Given the description of an element on the screen output the (x, y) to click on. 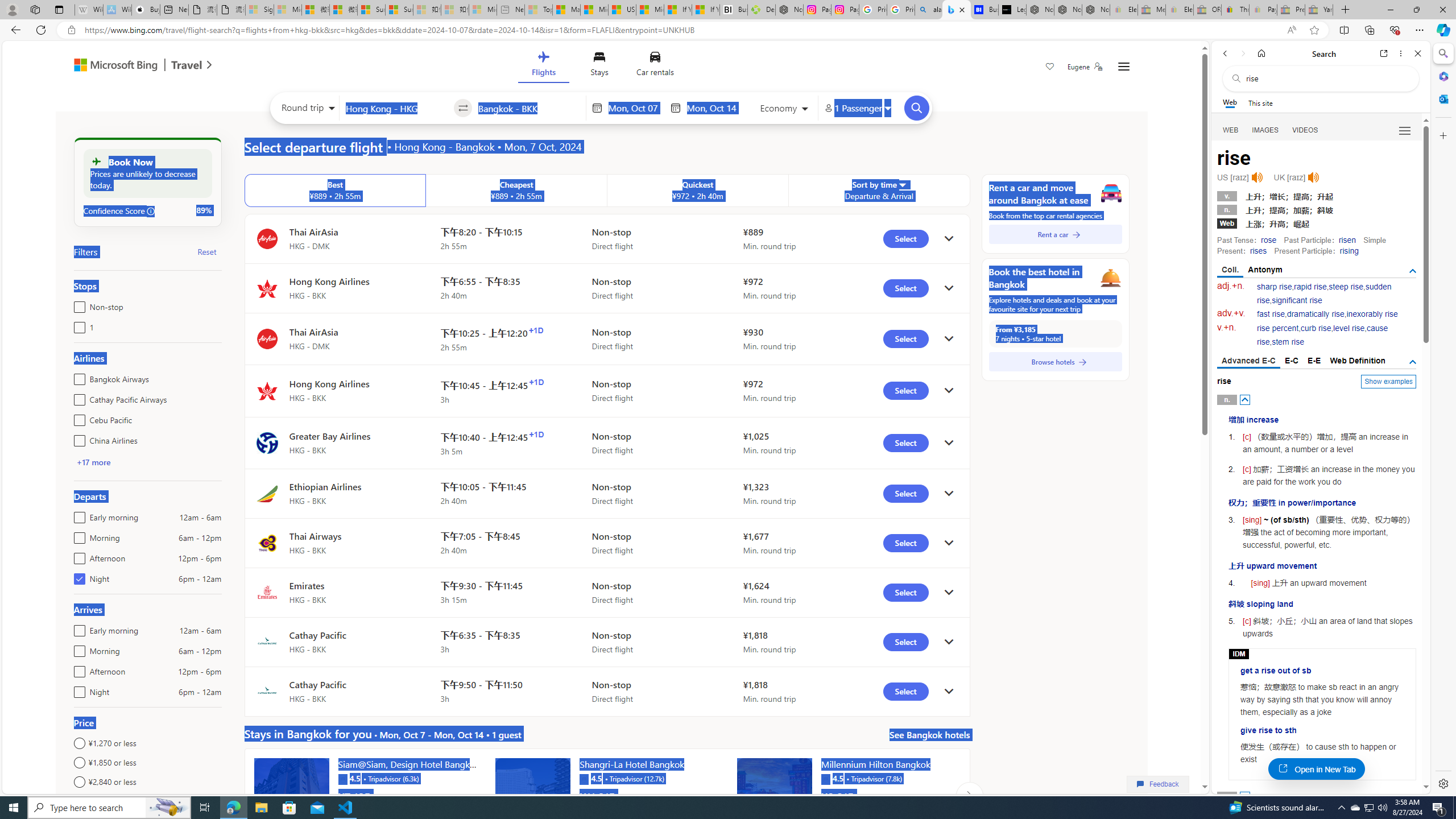
rises (1257, 250)
curb rise (1315, 328)
Bangkok Airways (76, 376)
Microsoft Bing (110, 65)
Info tooltip (151, 211)
E-C (1291, 360)
